Given the description of an element on the screen output the (x, y) to click on. 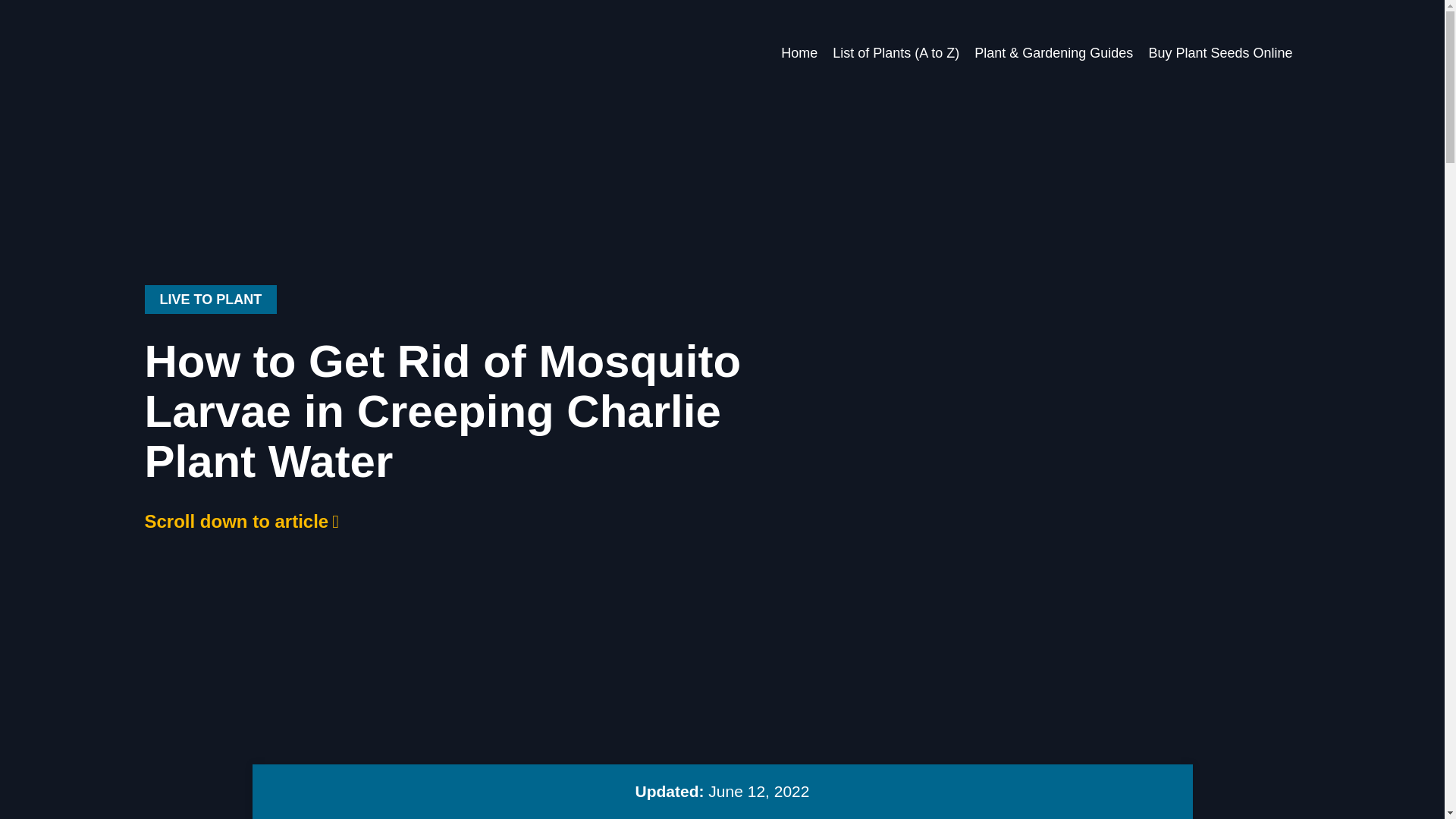
Scroll down to article (240, 521)
Buy Plant Seeds Online (1220, 52)
Home (799, 52)
